Given the description of an element on the screen output the (x, y) to click on. 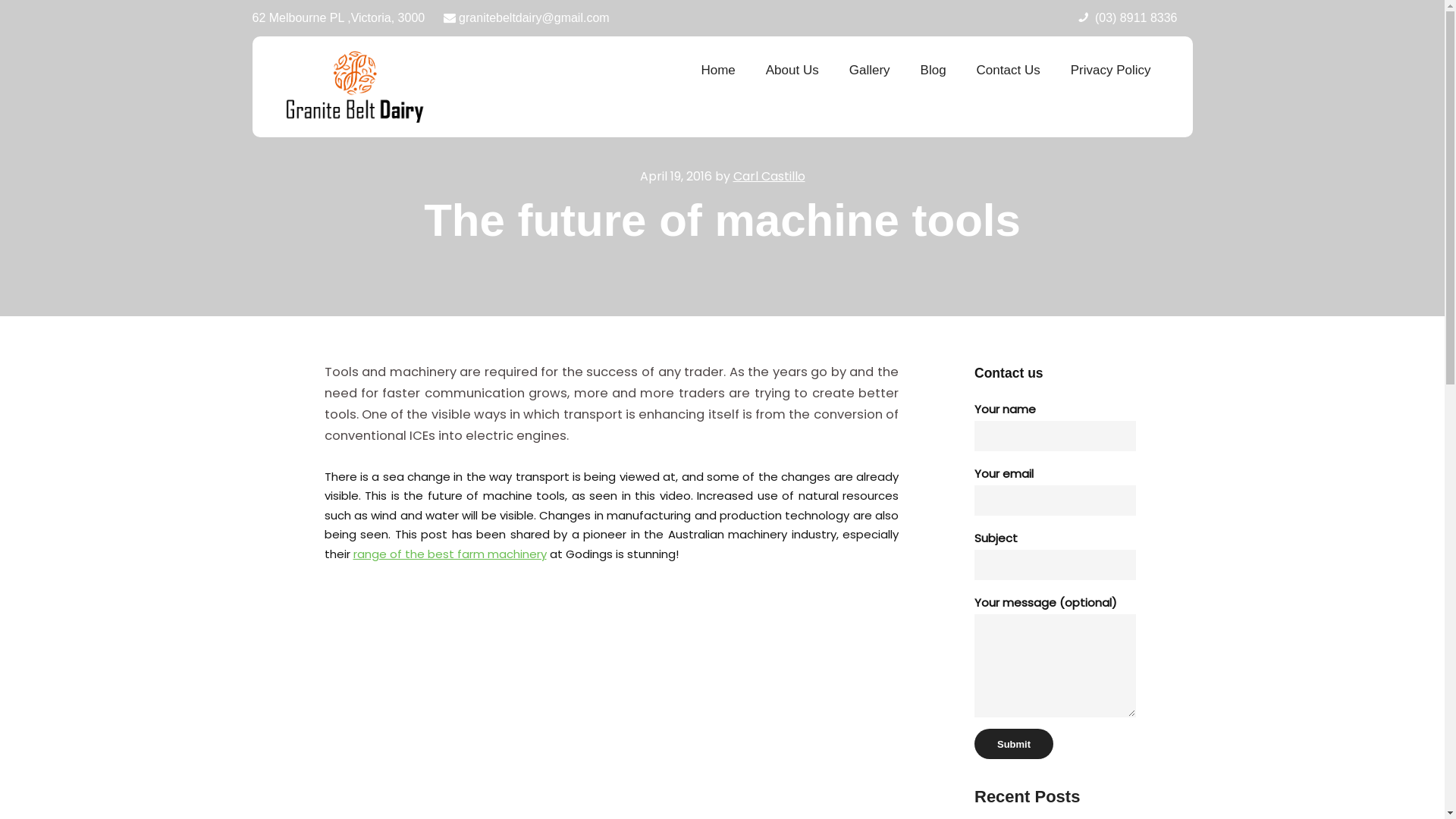
Home Element type: text (717, 70)
Submit Element type: text (1013, 743)
Carl Castillo Element type: text (768, 176)
range of the best farm machinery Element type: text (449, 553)
Blog Element type: text (933, 70)
Contact Us Element type: text (1008, 70)
Privacy Policy Element type: text (1110, 70)
About Us Element type: text (792, 70)
Gallery Element type: text (869, 70)
Granite Belt Dairy Element type: hover (354, 86)
